Given the description of an element on the screen output the (x, y) to click on. 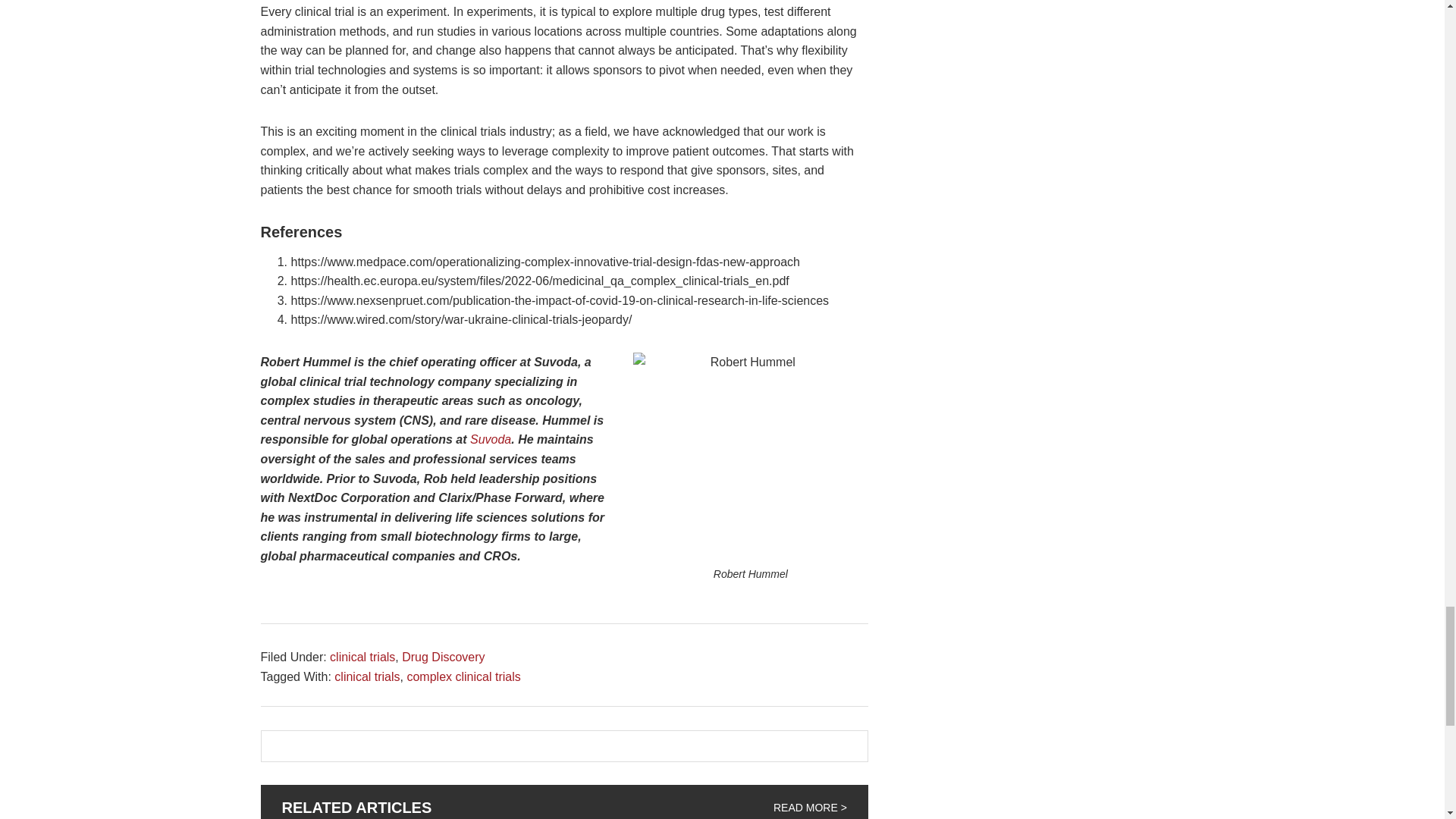
complex clinical trials (462, 676)
clinical trials (362, 656)
clinical trials (366, 676)
Drug Discovery (442, 656)
Suvoda (490, 439)
